Given the description of an element on the screen output the (x, y) to click on. 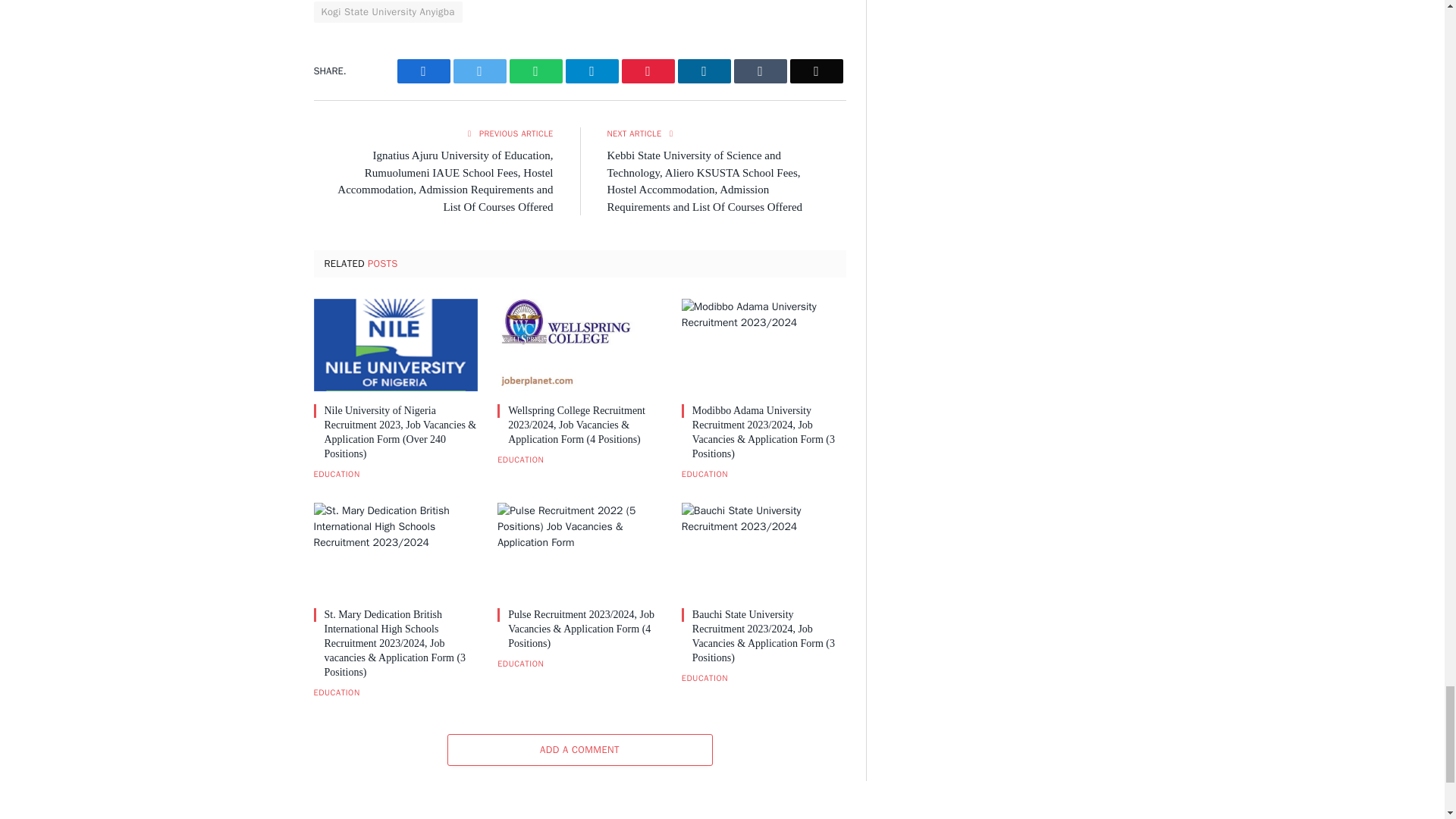
Share on Twitter (479, 70)
Share on Facebook (423, 70)
Share on LinkedIn (704, 70)
Twitter (479, 70)
Pinterest (648, 70)
Share on Telegram (592, 70)
LinkedIn (704, 70)
Telegram (592, 70)
Share on WhatsApp (535, 70)
